Given the description of an element on the screen output the (x, y) to click on. 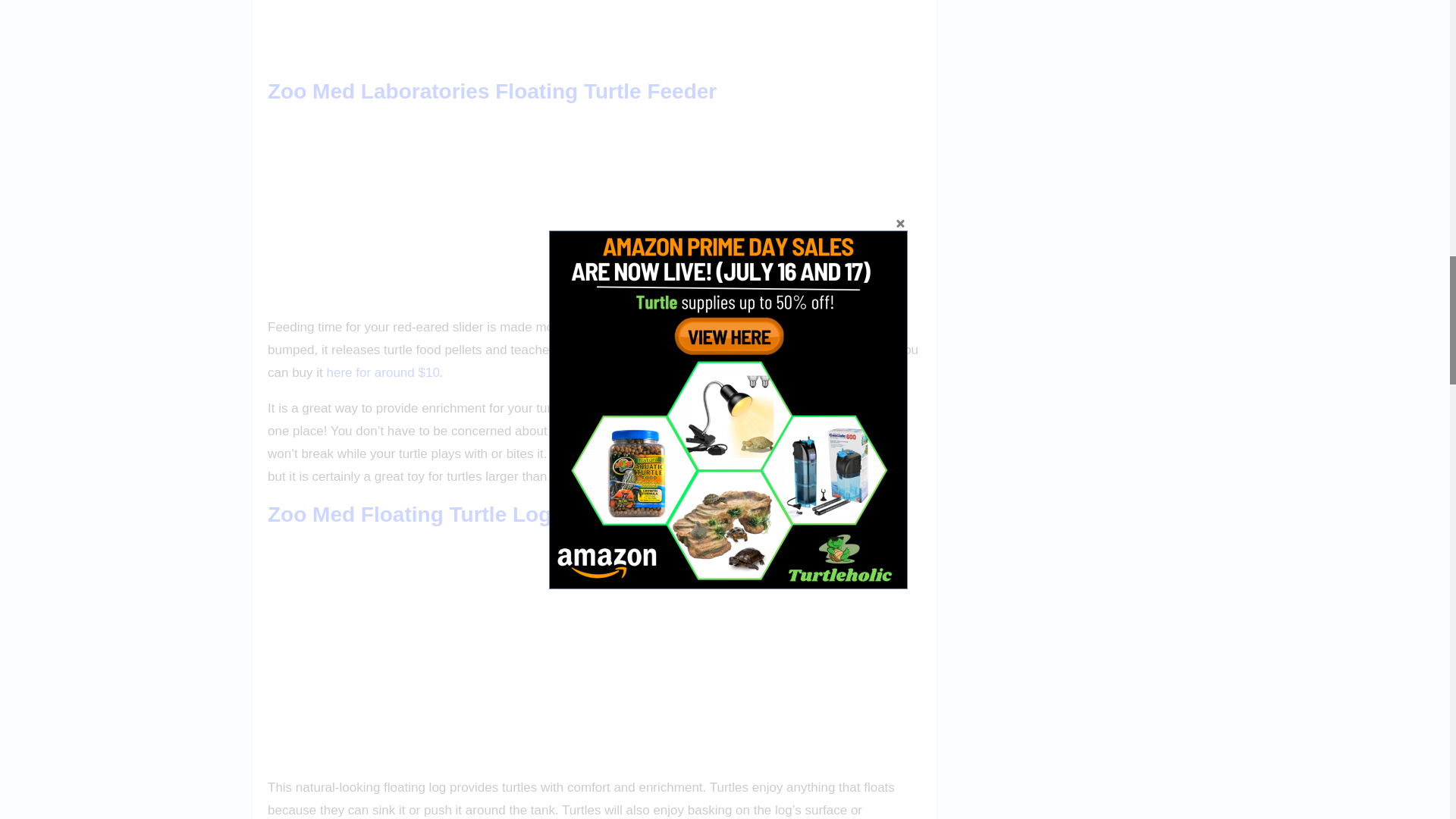
Taking My Turtle on a Picnic: Central Park NYC (594, 33)
Zoo Med Floating Turtle Log (409, 514)
Zoo Med Laboratories Floating Turtle Feeder (491, 91)
tank clean (708, 408)
